Given the description of an element on the screen output the (x, y) to click on. 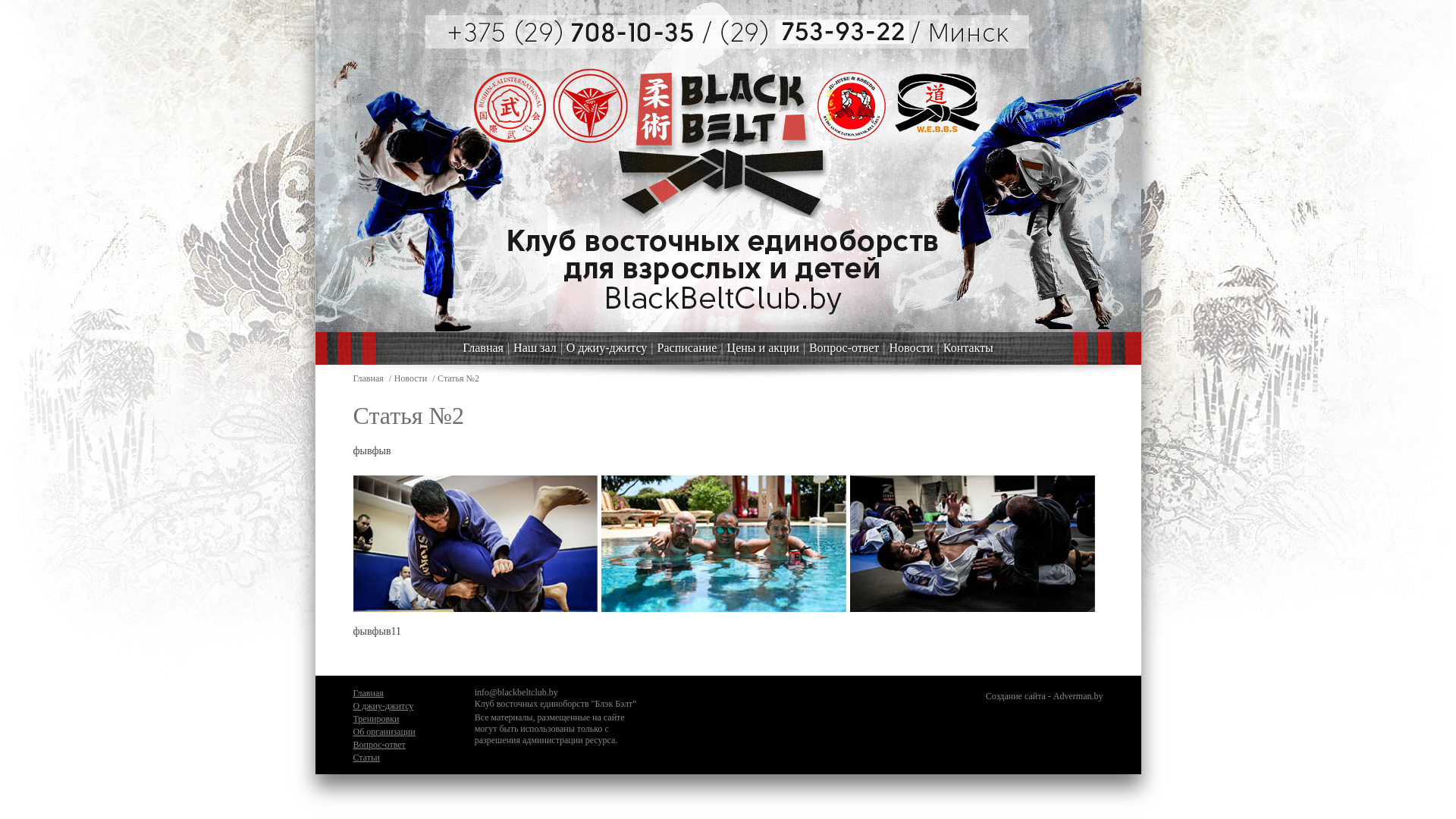
info@blackbeltclub.by Element type: text (516, 692)
